Given the description of an element on the screen output the (x, y) to click on. 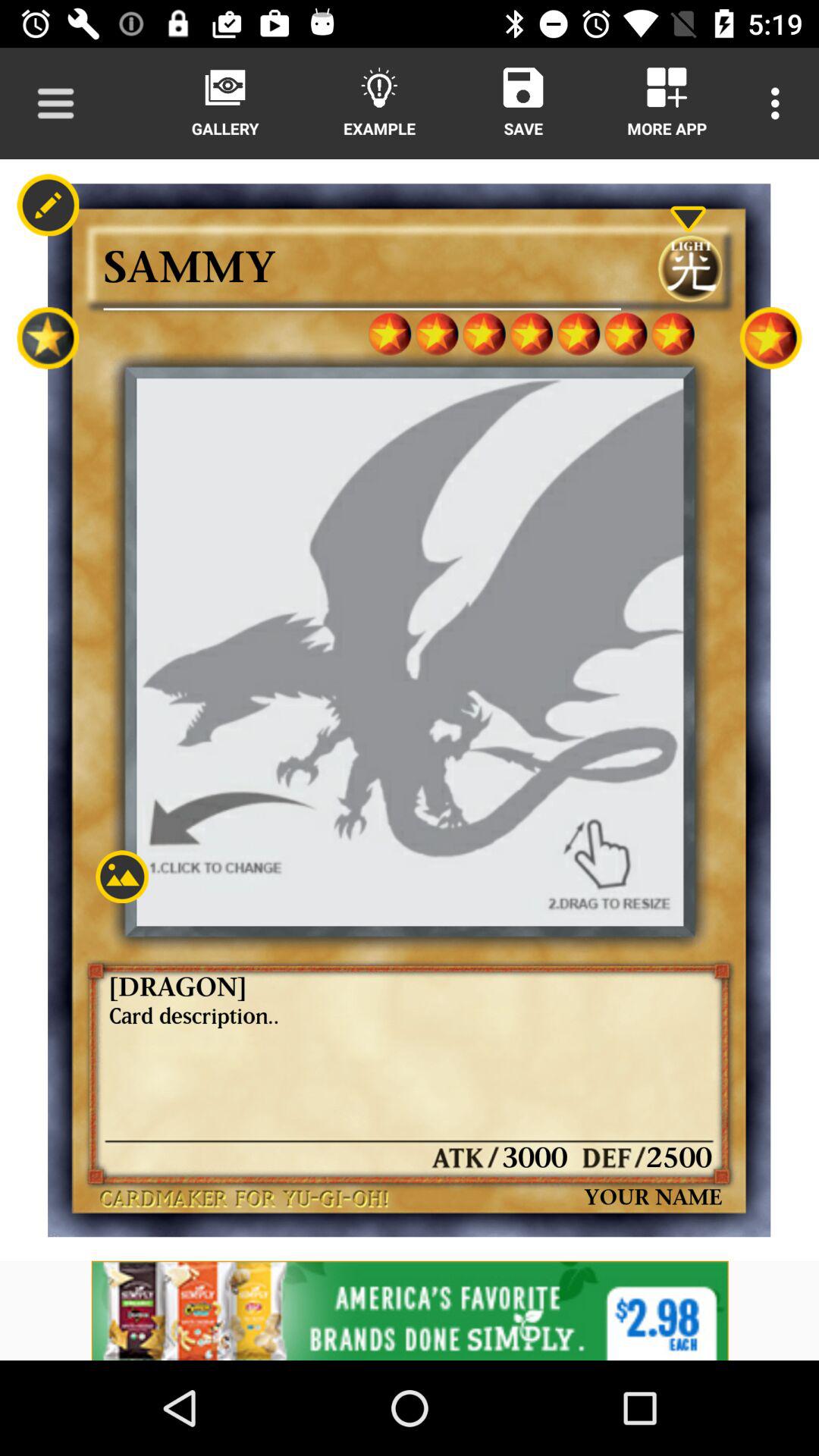
game page (121, 876)
